Given the description of an element on the screen output the (x, y) to click on. 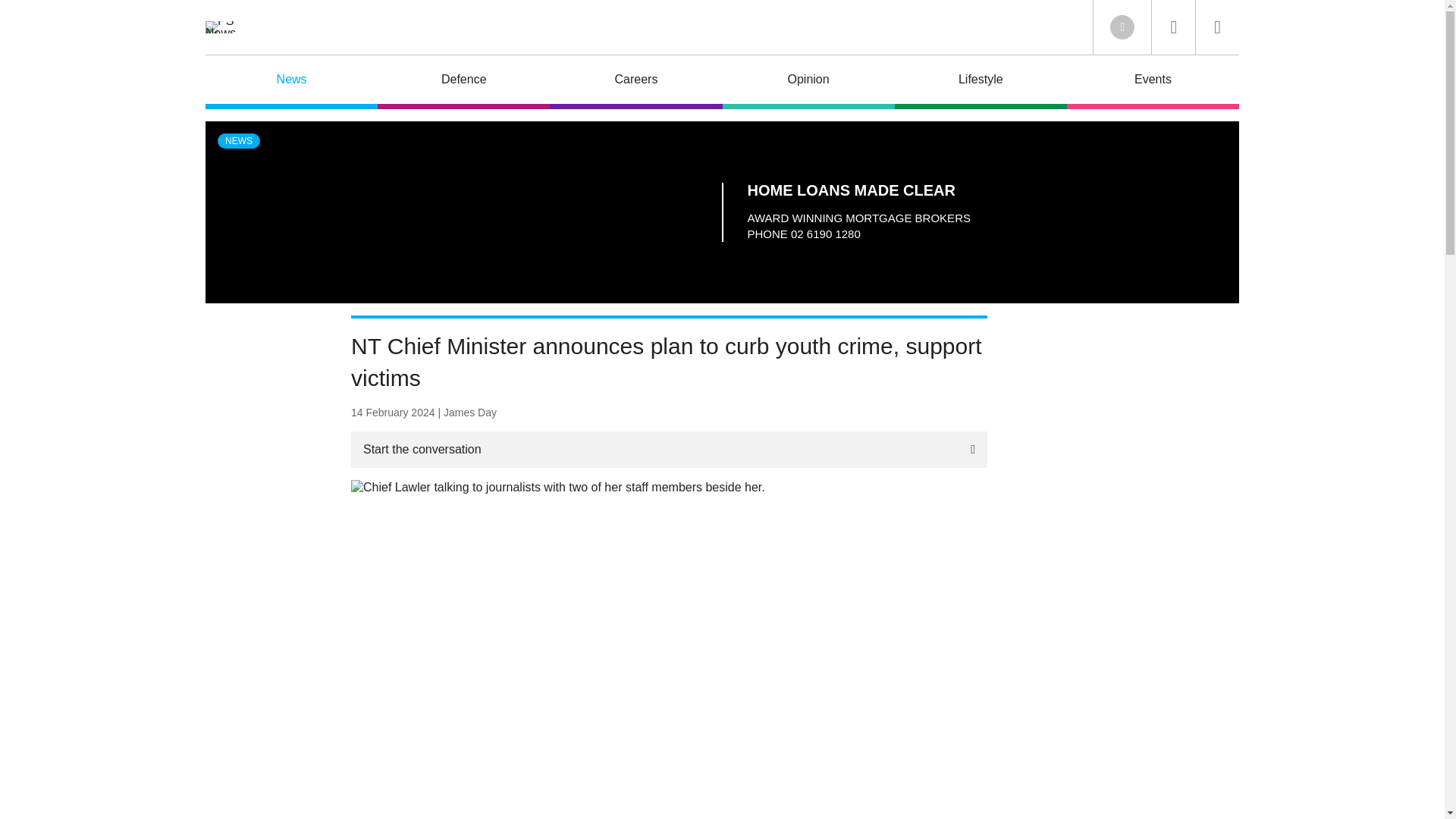
Defence (463, 81)
LinkedIn (1121, 27)
News (291, 81)
PS News Home (220, 27)
